Given the description of an element on the screen output the (x, y) to click on. 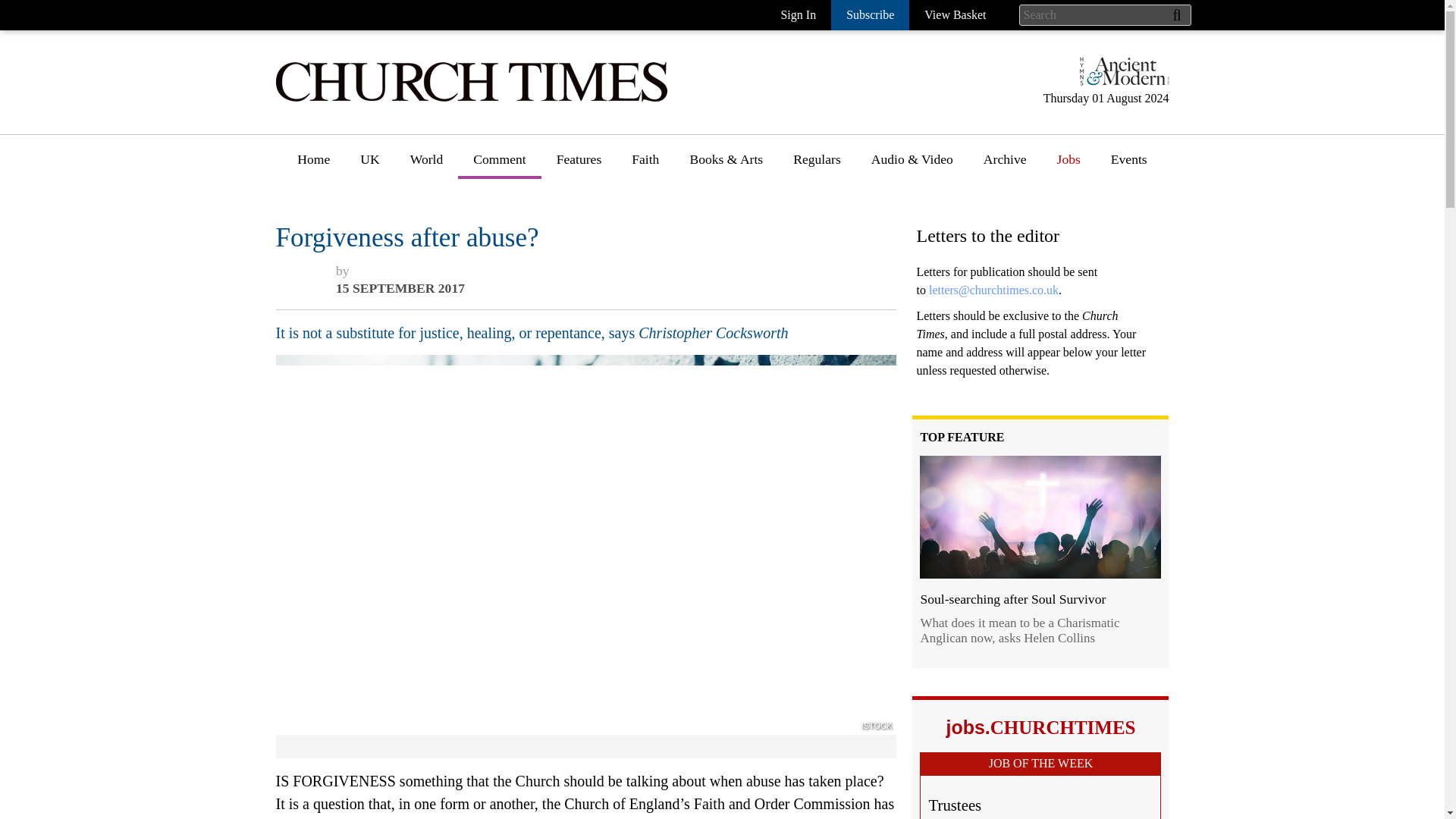
Week ahead (721, 456)
TV (698, 399)
Letters to the editor (526, 287)
Caption competition (848, 260)
Crossword (823, 287)
Film (702, 371)
Sign In (798, 15)
Cartoons (817, 232)
Comment (499, 164)
New titles (716, 232)
